Given the description of an element on the screen output the (x, y) to click on. 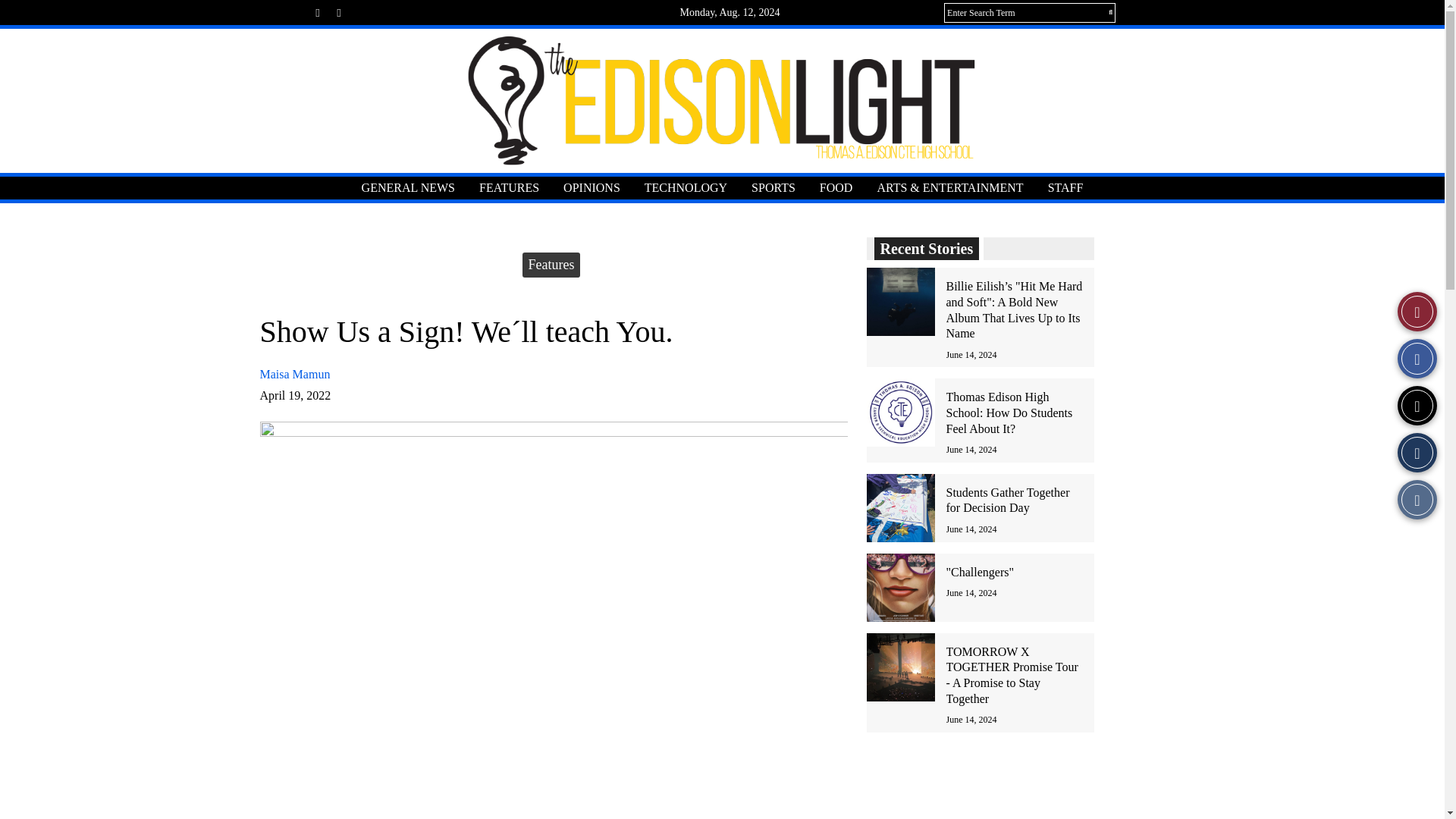
FOOD (836, 187)
OPINIONS (591, 187)
FEATURES (509, 187)
SPORTS (773, 187)
STAFF (1065, 187)
TECHNOLOGY (685, 187)
GENERAL NEWS (408, 187)
